Given the description of an element on the screen output the (x, y) to click on. 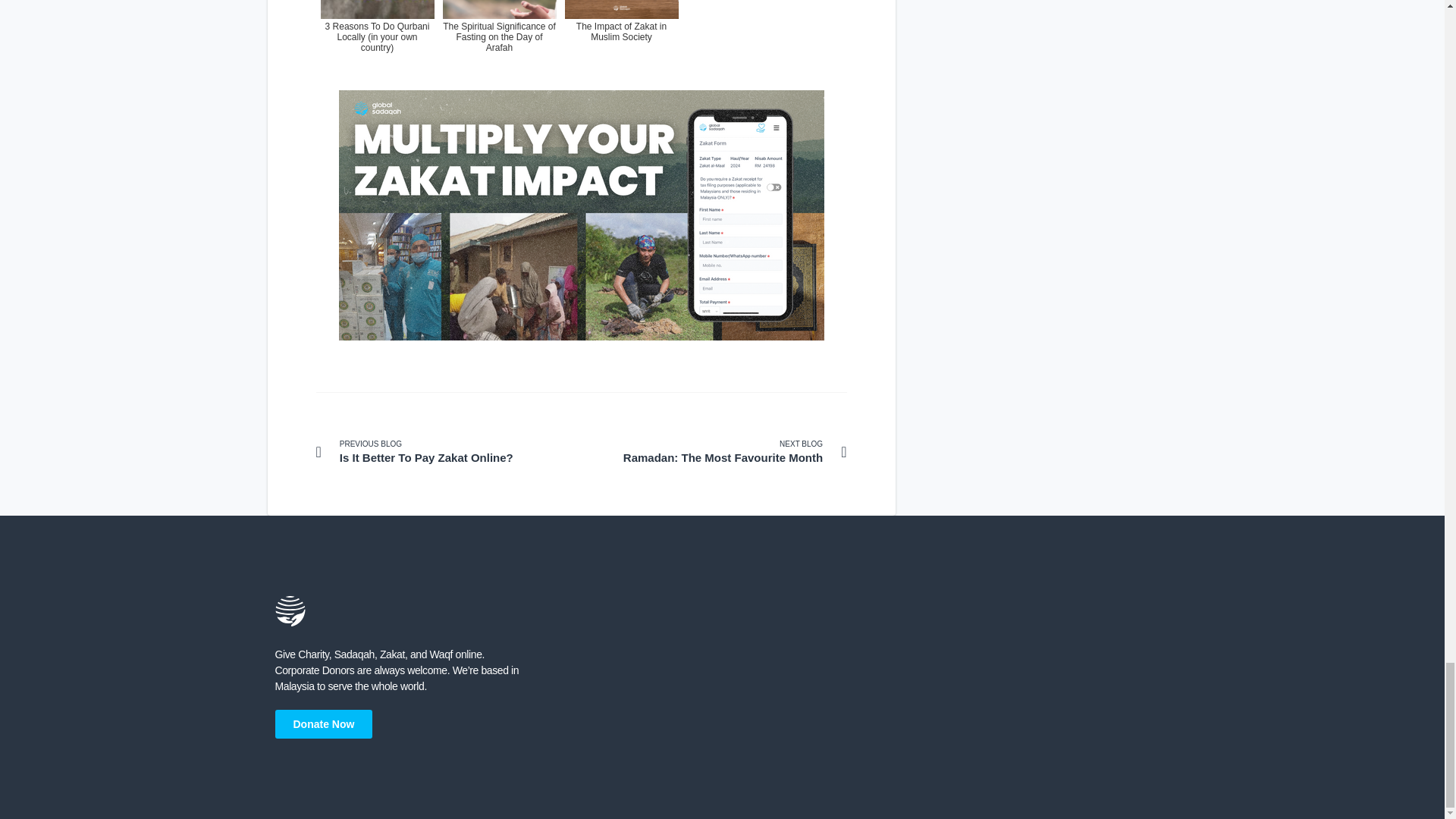
The Impact of Zakat in Muslim Society (712, 452)
The Spiritual Significance of Fasting on the Day of Arafah (620, 40)
Donate Now (447, 452)
